Given the description of an element on the screen output the (x, y) to click on. 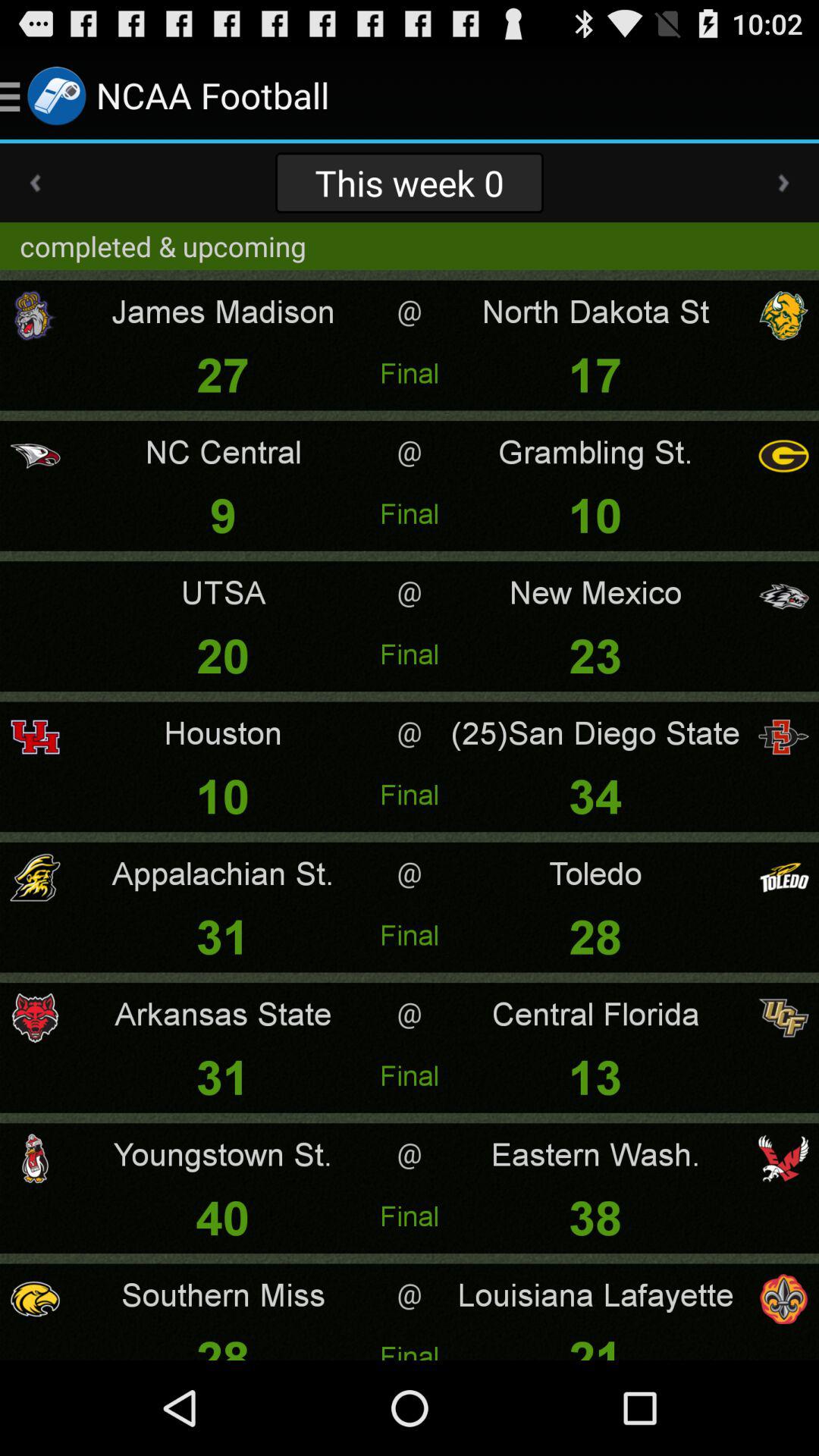
launch item below the ncaa football icon (409, 182)
